Given the description of an element on the screen output the (x, y) to click on. 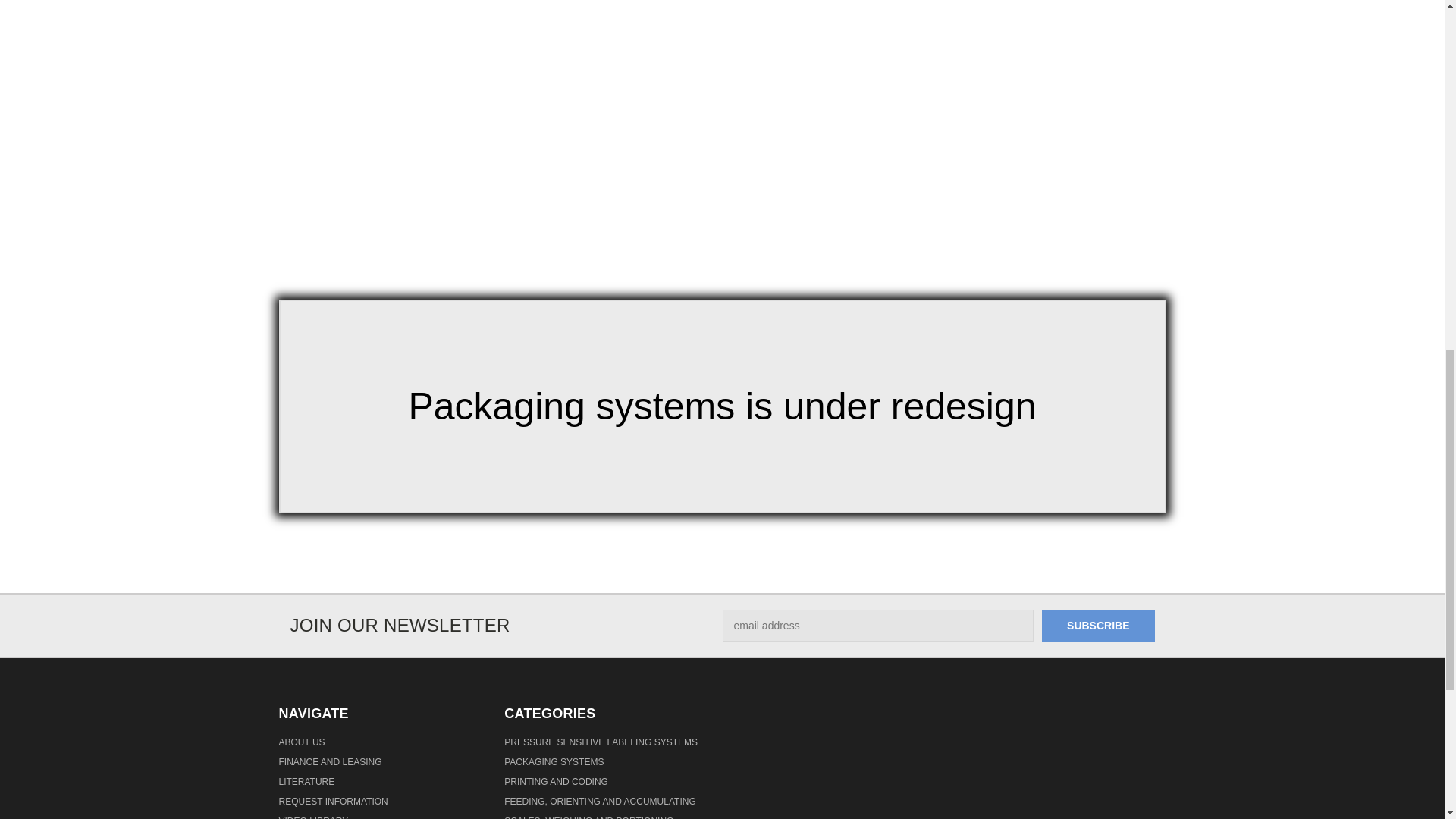
Subscribe (1098, 625)
ABOUT US (301, 745)
FINANCE AND LEASING (330, 764)
Subscribe (1098, 625)
